Given the description of an element on the screen output the (x, y) to click on. 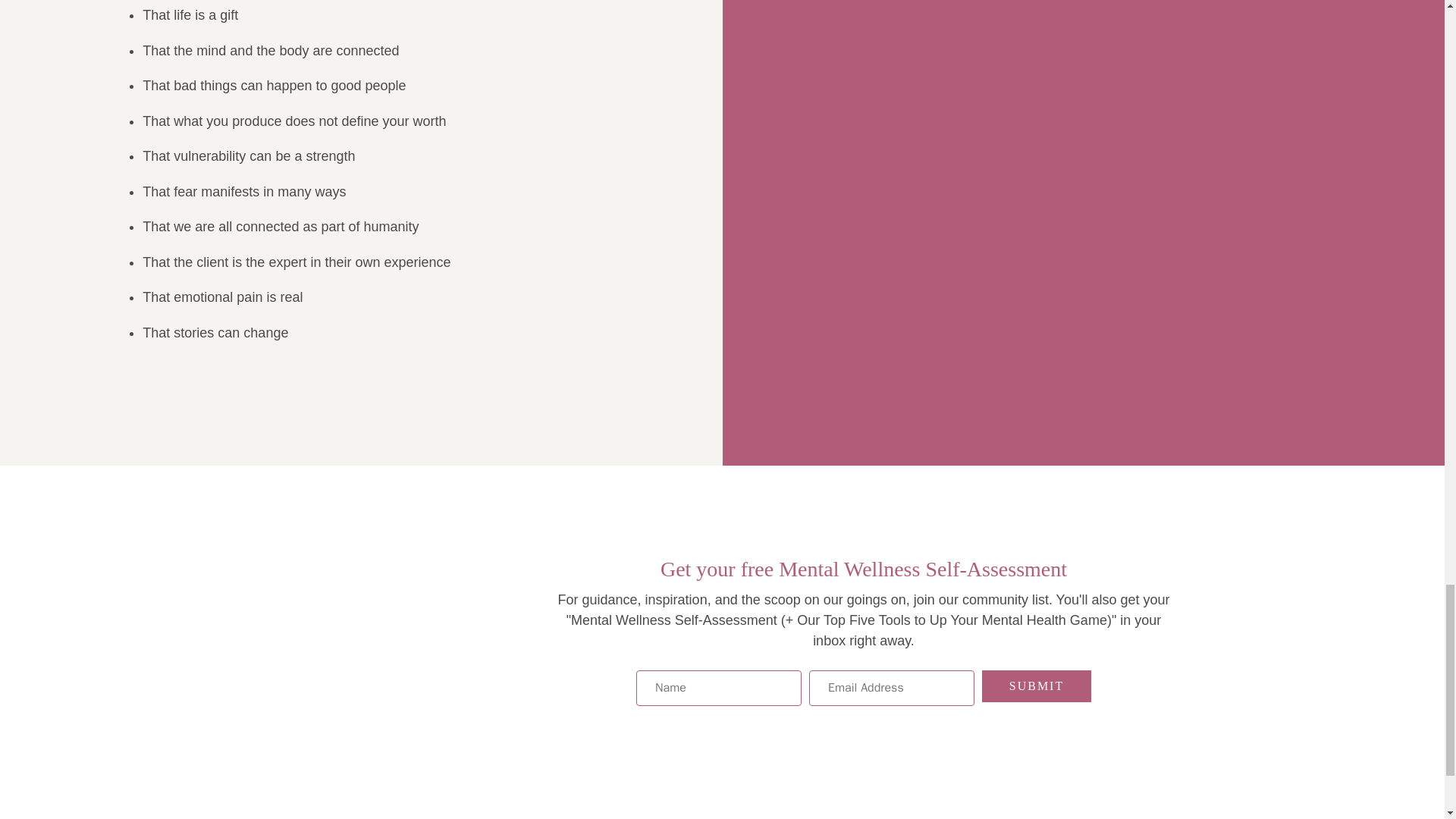
SUBMIT (1035, 685)
